Given the description of an element on the screen output the (x, y) to click on. 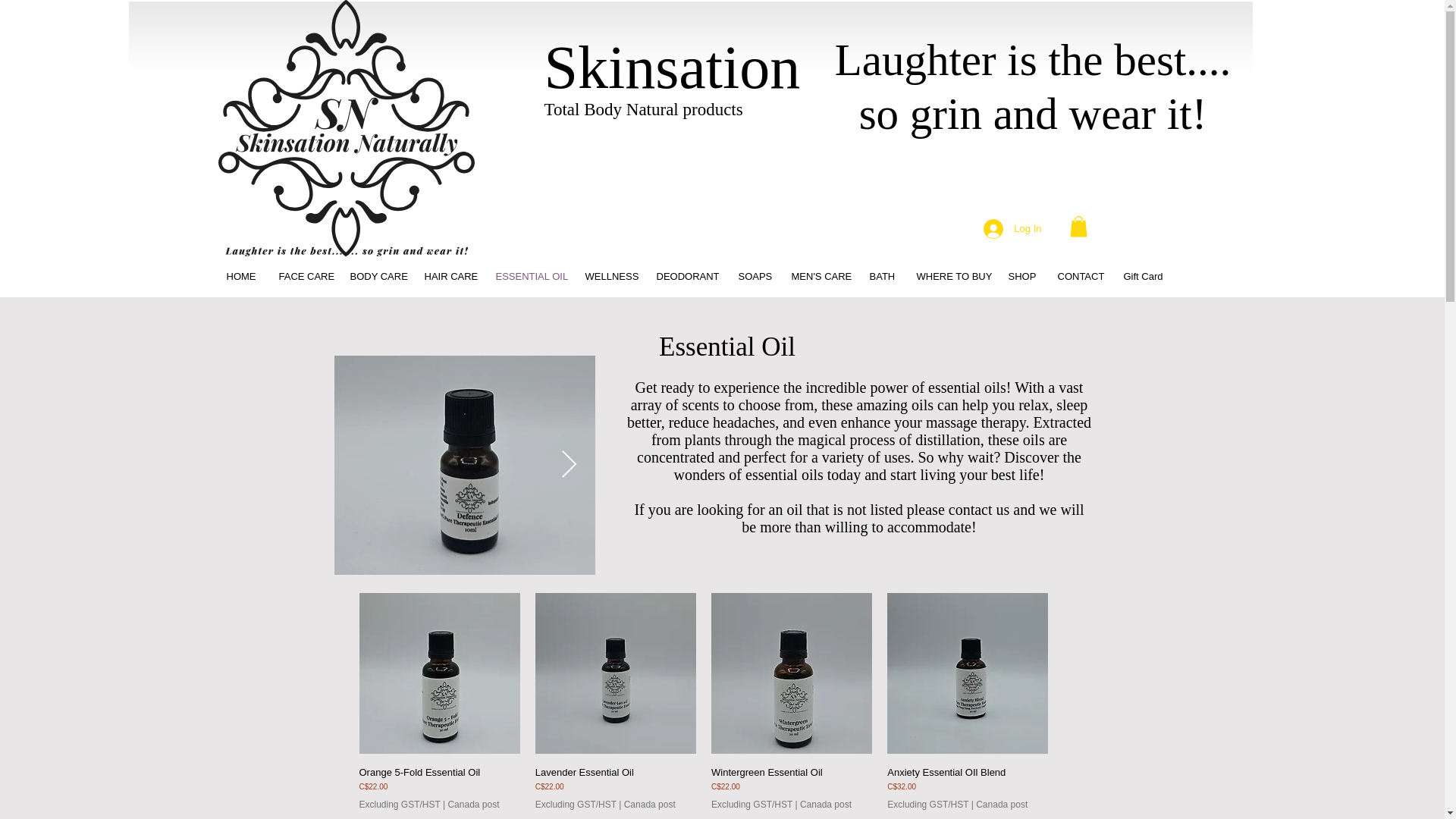
BODY CARE (374, 276)
FACE CARE (301, 276)
DEODORANT (685, 276)
SOAPS (752, 276)
MEN'S CARE (817, 276)
WELLNESS (609, 276)
WHERE TO BUY (951, 276)
HAIR CARE (447, 276)
Canada post (649, 804)
Log In (1011, 228)
